Given the description of an element on the screen output the (x, y) to click on. 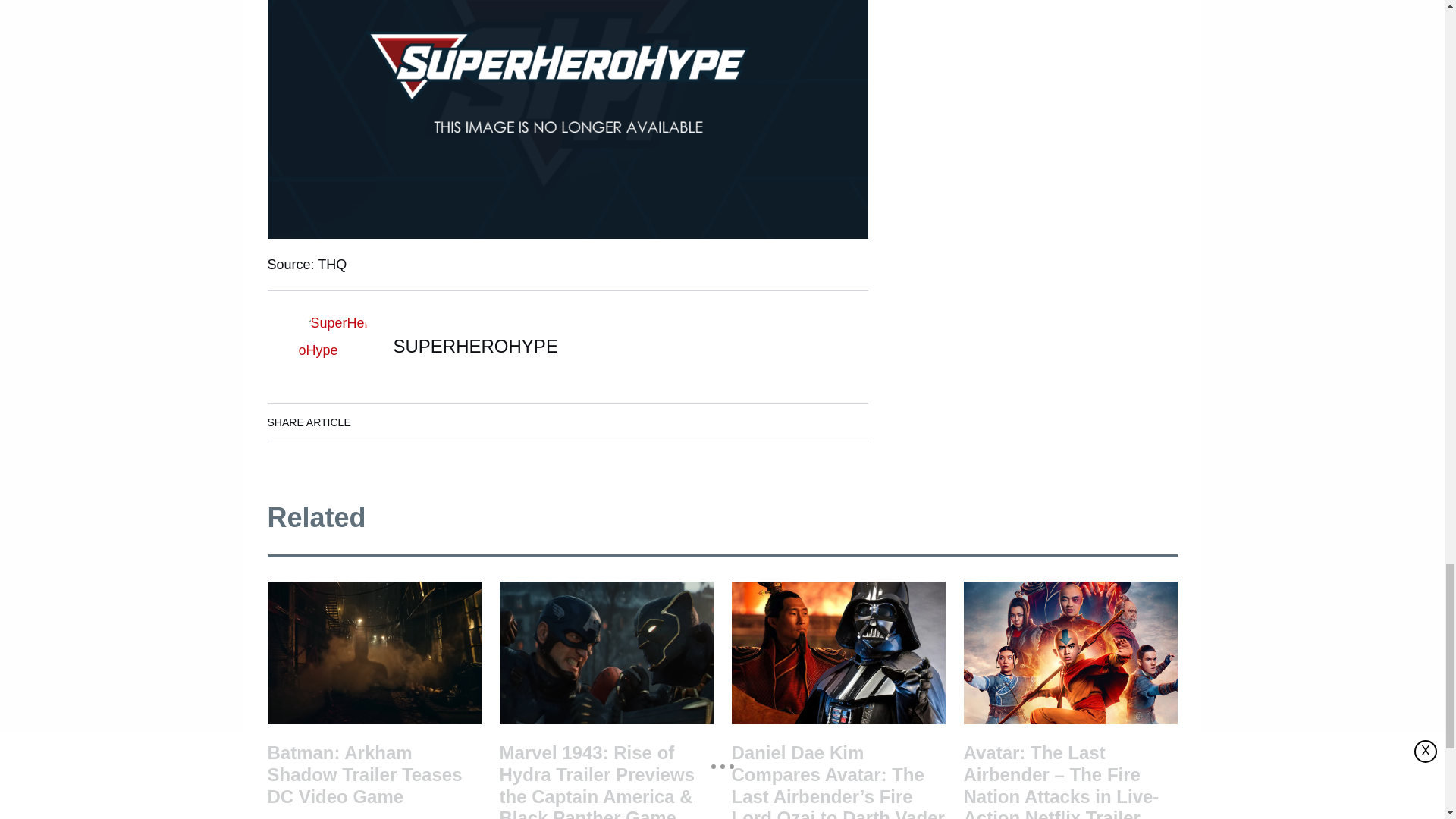
Batman: Arkham Shadow Trailer Teases DC Video Game (373, 652)
Facebook (377, 422)
SUPERHEROHYPE (475, 345)
LinkedIn (420, 422)
Pinterest (505, 422)
Batman: Arkham Shadow Trailer Teases DC Video Game (373, 780)
Twitter (463, 422)
